Given the description of an element on the screen output the (x, y) to click on. 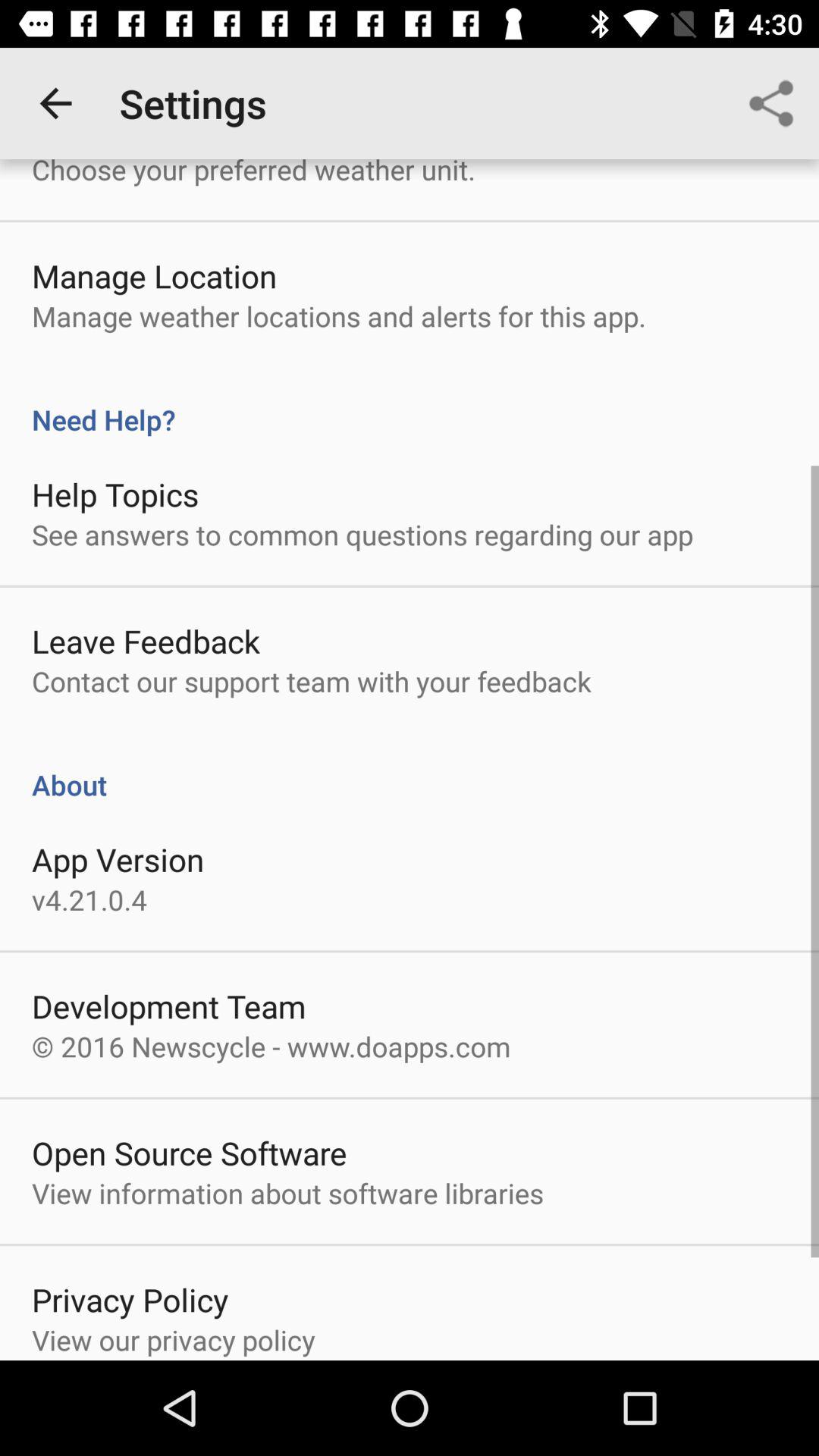
tap item below the choose your preferred icon (153, 275)
